Given the description of an element on the screen output the (x, y) to click on. 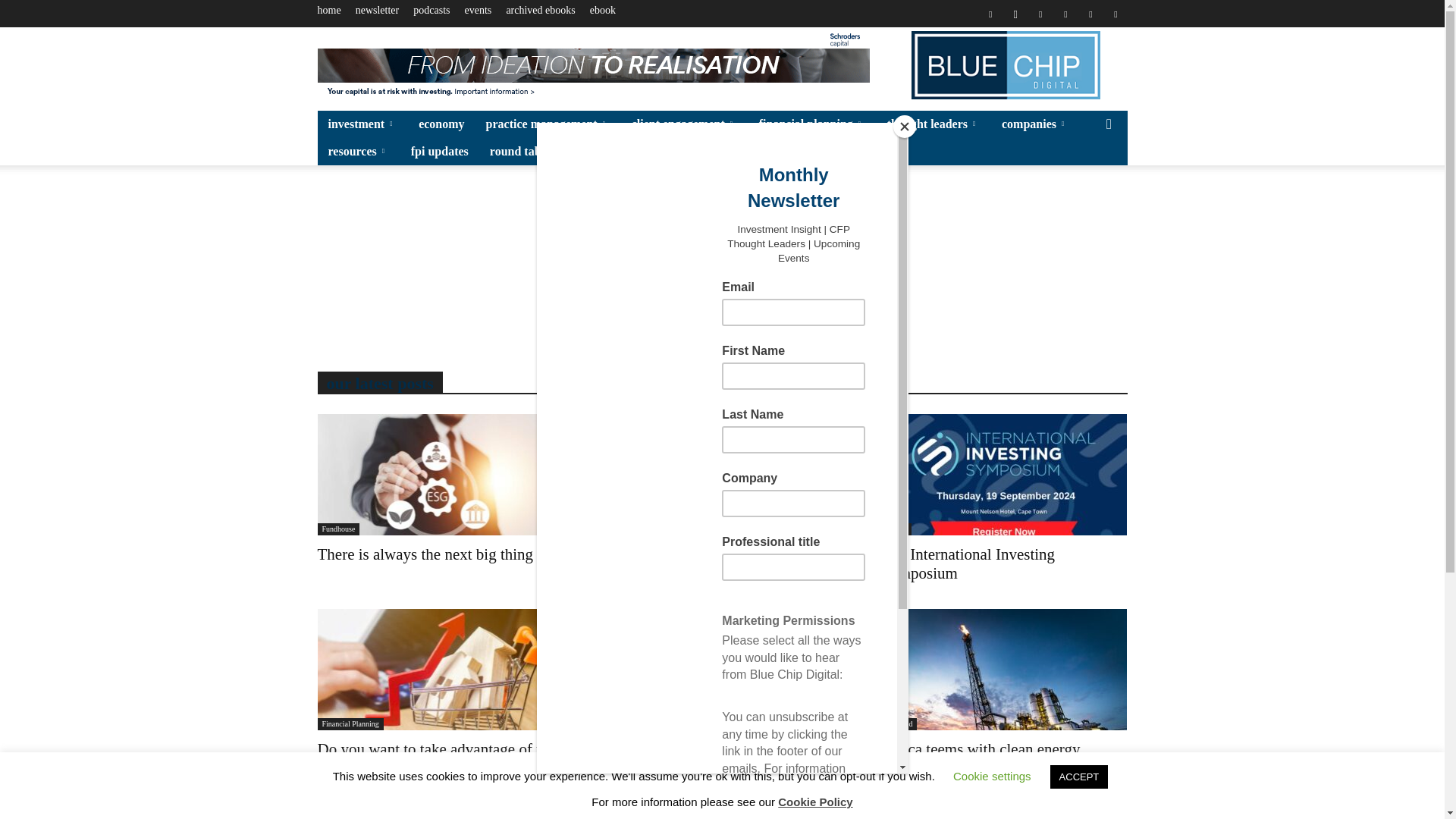
There is always the next big thing (424, 554)
Linkedin (1040, 13)
There is always the next big thing (439, 474)
Money issues in divorce (721, 474)
Youtube (1114, 13)
Money issues in divorce (676, 554)
Twitter (1090, 13)
Mail (1065, 13)
Instagram (1015, 13)
Facebook (989, 13)
